Given the description of an element on the screen output the (x, y) to click on. 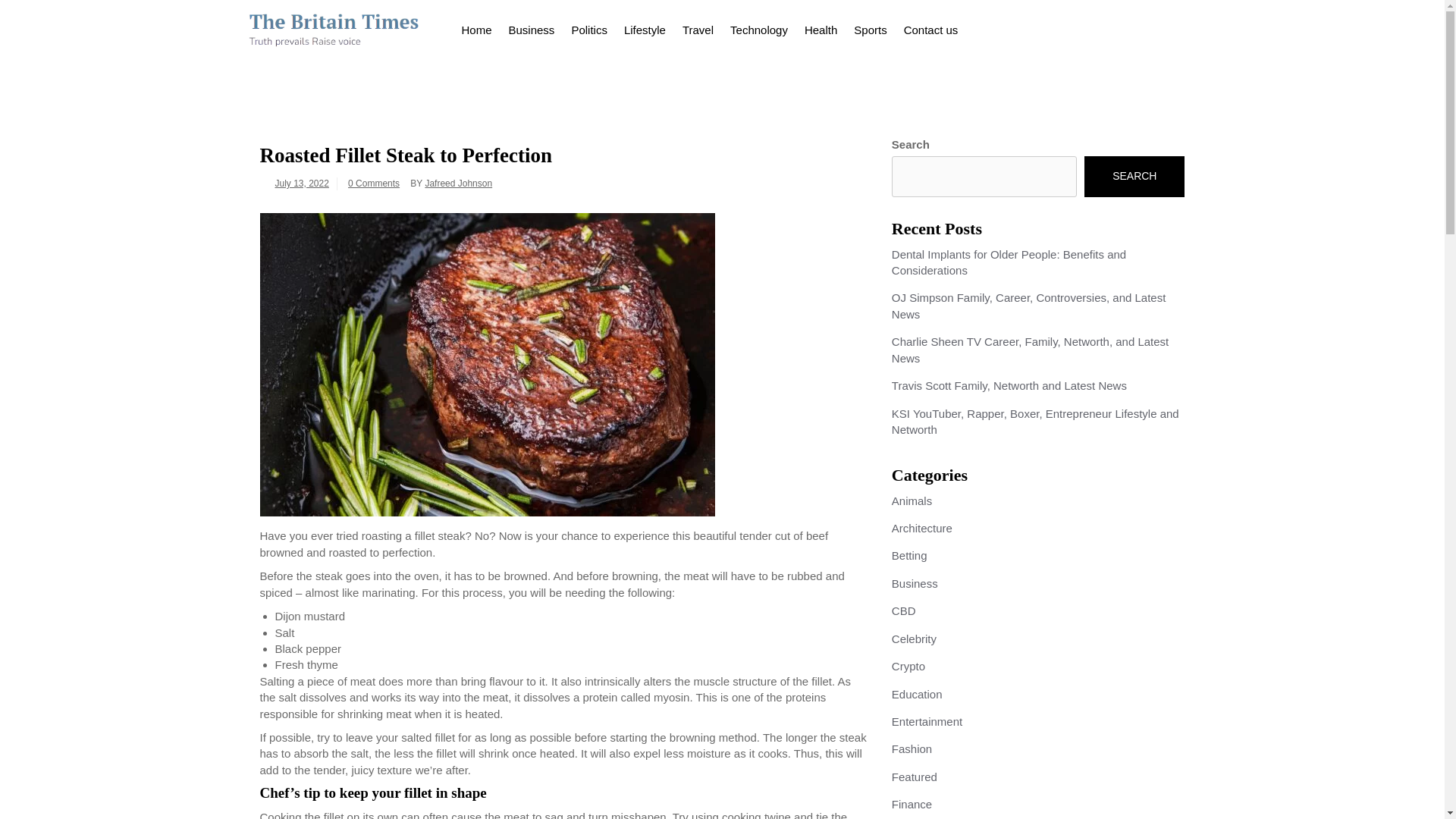
Home (475, 28)
Lifestyle (644, 28)
Lifestyle (644, 28)
0 Comments (372, 183)
Contact us (930, 28)
Business (531, 28)
Health (820, 28)
Politics (588, 28)
Travel (698, 28)
Politics (588, 28)
Home (475, 28)
Technology (759, 28)
Sports (870, 28)
Travel (698, 28)
Sports (870, 28)
